Given the description of an element on the screen output the (x, y) to click on. 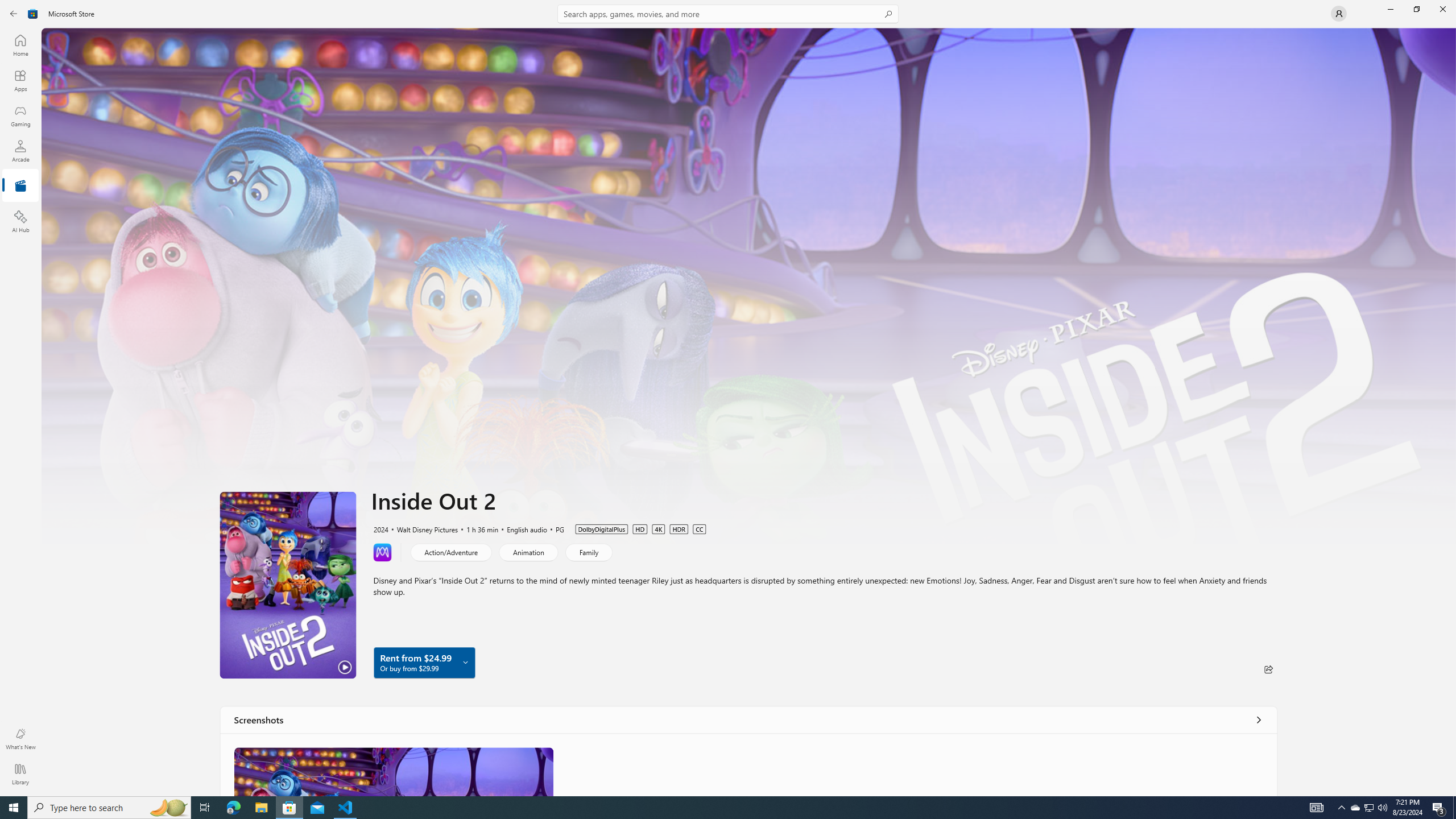
Learn more about Movies Anywhere (381, 551)
AI Hub (20, 221)
Search (727, 13)
Class: Image (393, 771)
Animation (528, 551)
Close Microsoft Store (1442, 9)
AutomationID: NavigationControl (728, 398)
Entertainment (20, 185)
Rent from $24.99 Or buy from $29.99 (424, 662)
1 h 36 min (477, 528)
Share (1267, 669)
PG (554, 528)
Back (13, 13)
Restore Microsoft Store (1416, 9)
